Given the description of an element on the screen output the (x, y) to click on. 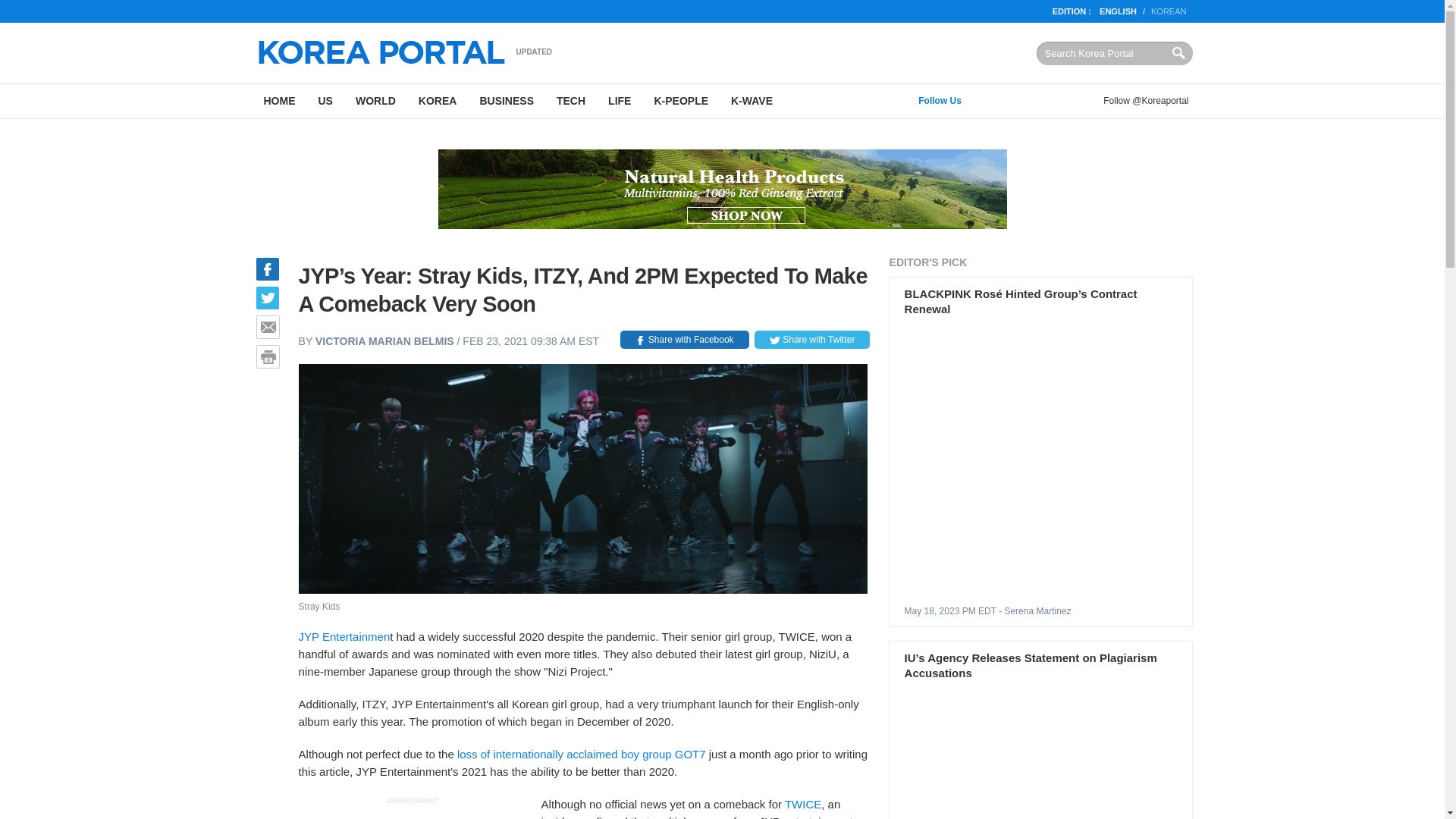
JYP Entertainmen (344, 635)
HOME (278, 100)
KOREA (437, 100)
Share with Facebook (684, 339)
LIFE (619, 100)
KOREAN (1168, 10)
TWICE (802, 803)
TECH (570, 100)
loss of internationally acclaimed boy group GOT7 (581, 753)
K-PEOPLE (680, 100)
